Given the description of an element on the screen output the (x, y) to click on. 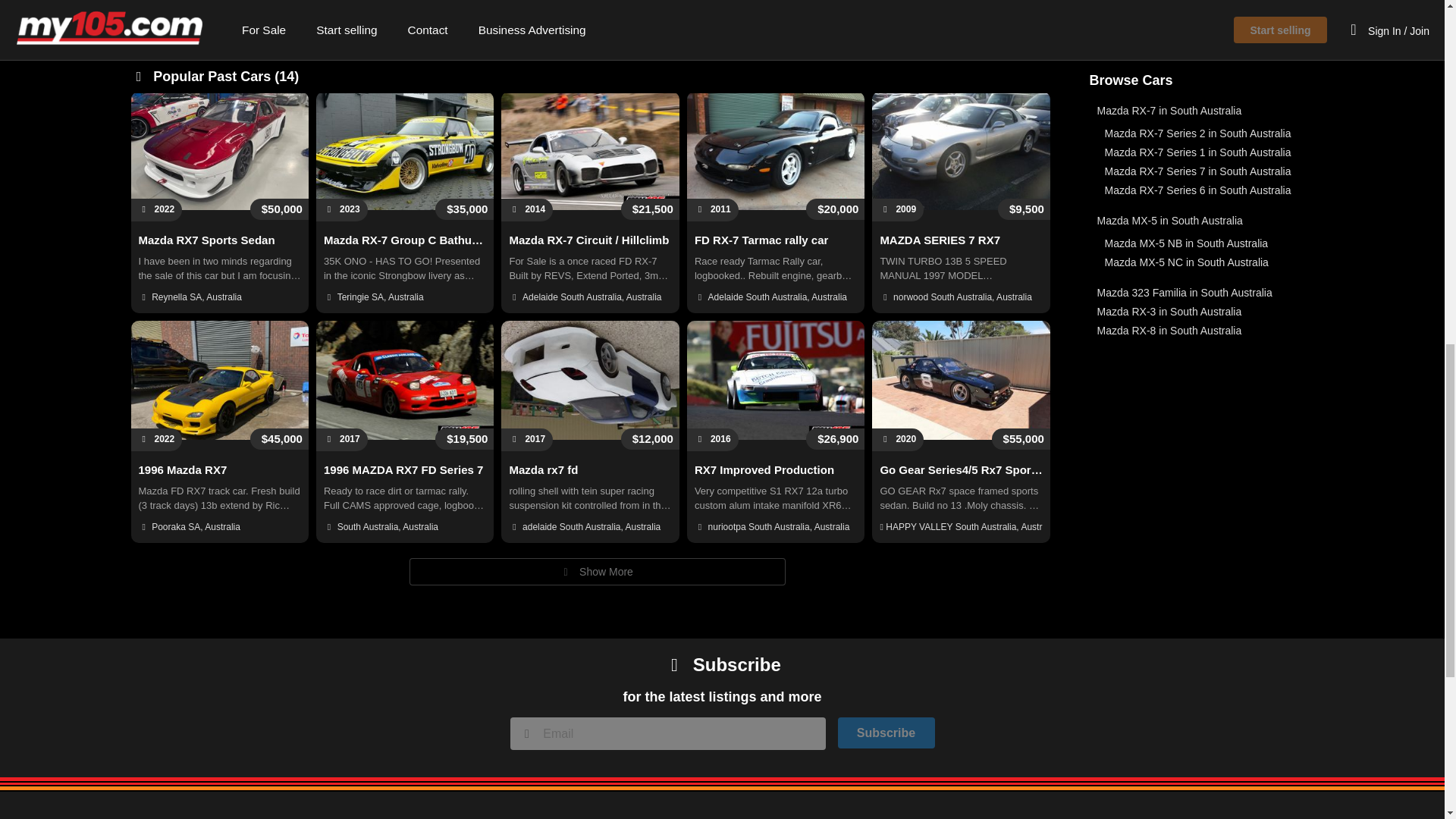
Mazda RX-7 Series 1 in South Australia (1198, 152)
Mazda RX-7 Series 2 in South Australia (1198, 133)
Show More (597, 571)
Search Live Cars (599, 10)
Mazda RX-7 in South Australia (1169, 110)
Mazda in South Australia (1148, 87)
